Given the description of an element on the screen output the (x, y) to click on. 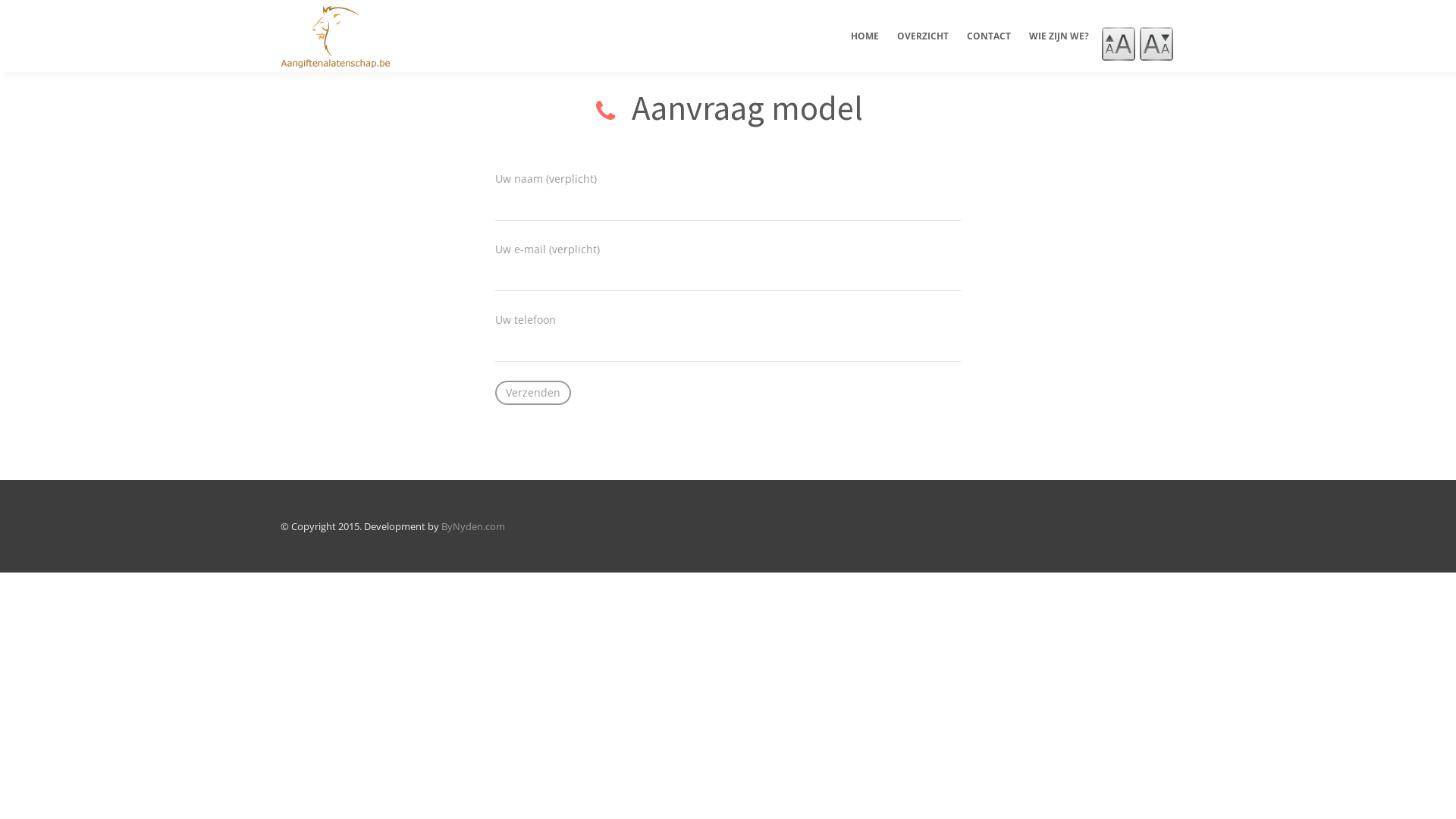
ByNyden.com Element type: text (473, 526)
Verzenden Element type: text (533, 392)
WIE ZIJN WE? Element type: text (1058, 48)
HOME Element type: text (864, 48)
OVERZICHT Element type: text (922, 48)
CONTACT Element type: text (988, 48)
